Given the description of an element on the screen output the (x, y) to click on. 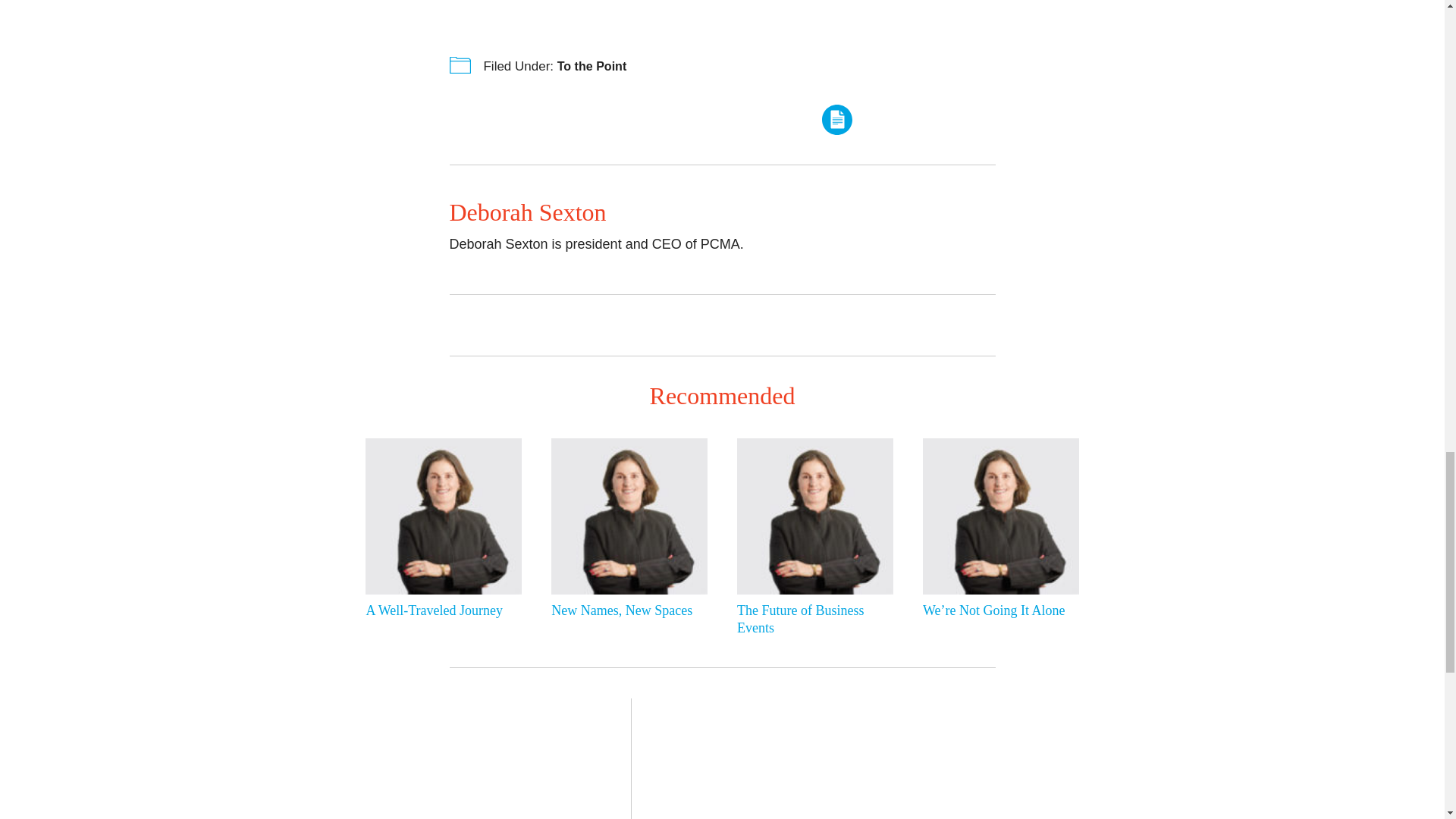
The Future of Business Events (810, 619)
New Names, New Spaces (625, 610)
A Well-Traveled Journey (439, 610)
To the Point (592, 65)
Print (836, 119)
